Given the description of an element on the screen output the (x, y) to click on. 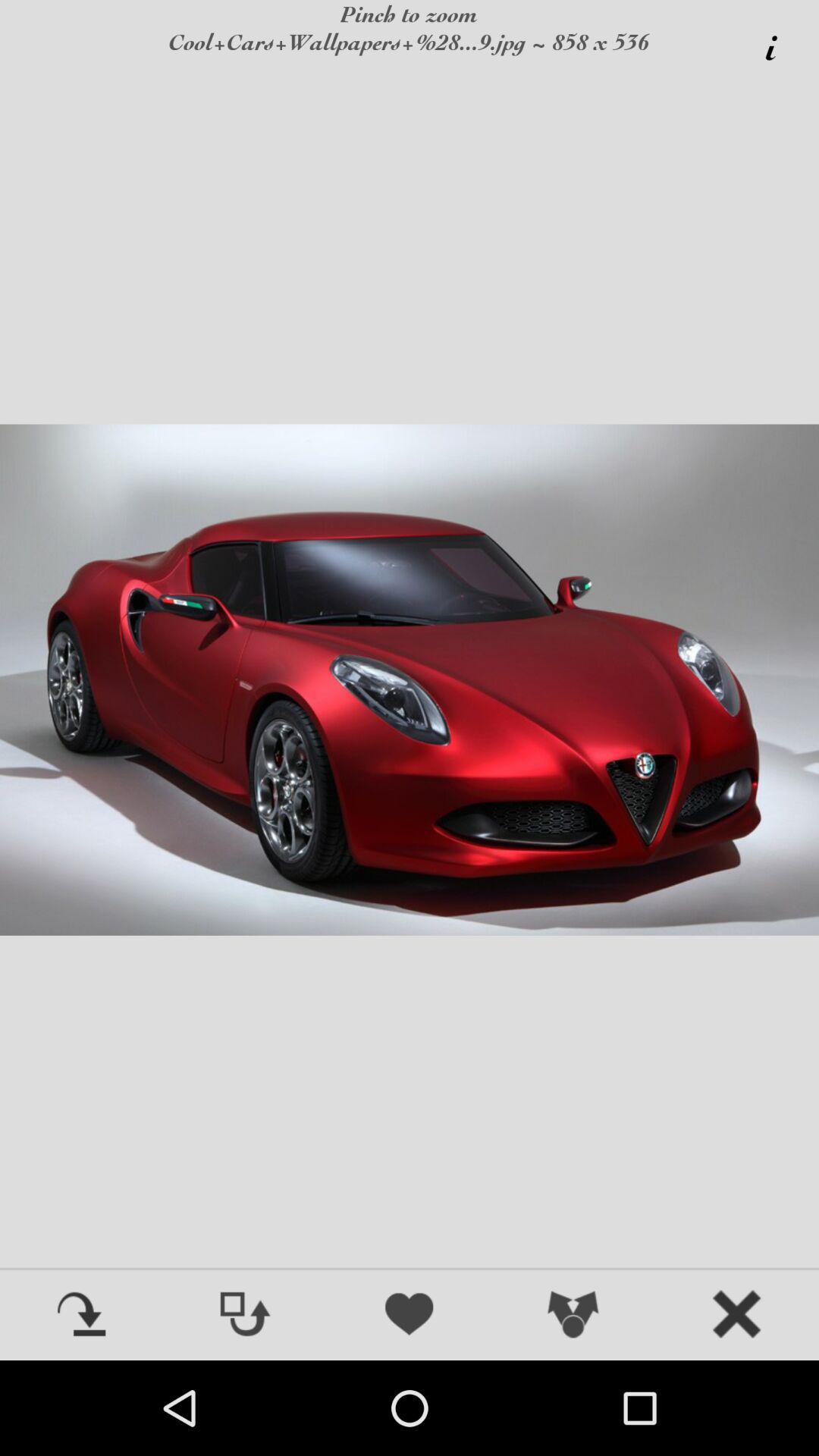
download picture (81, 1315)
